Given the description of an element on the screen output the (x, y) to click on. 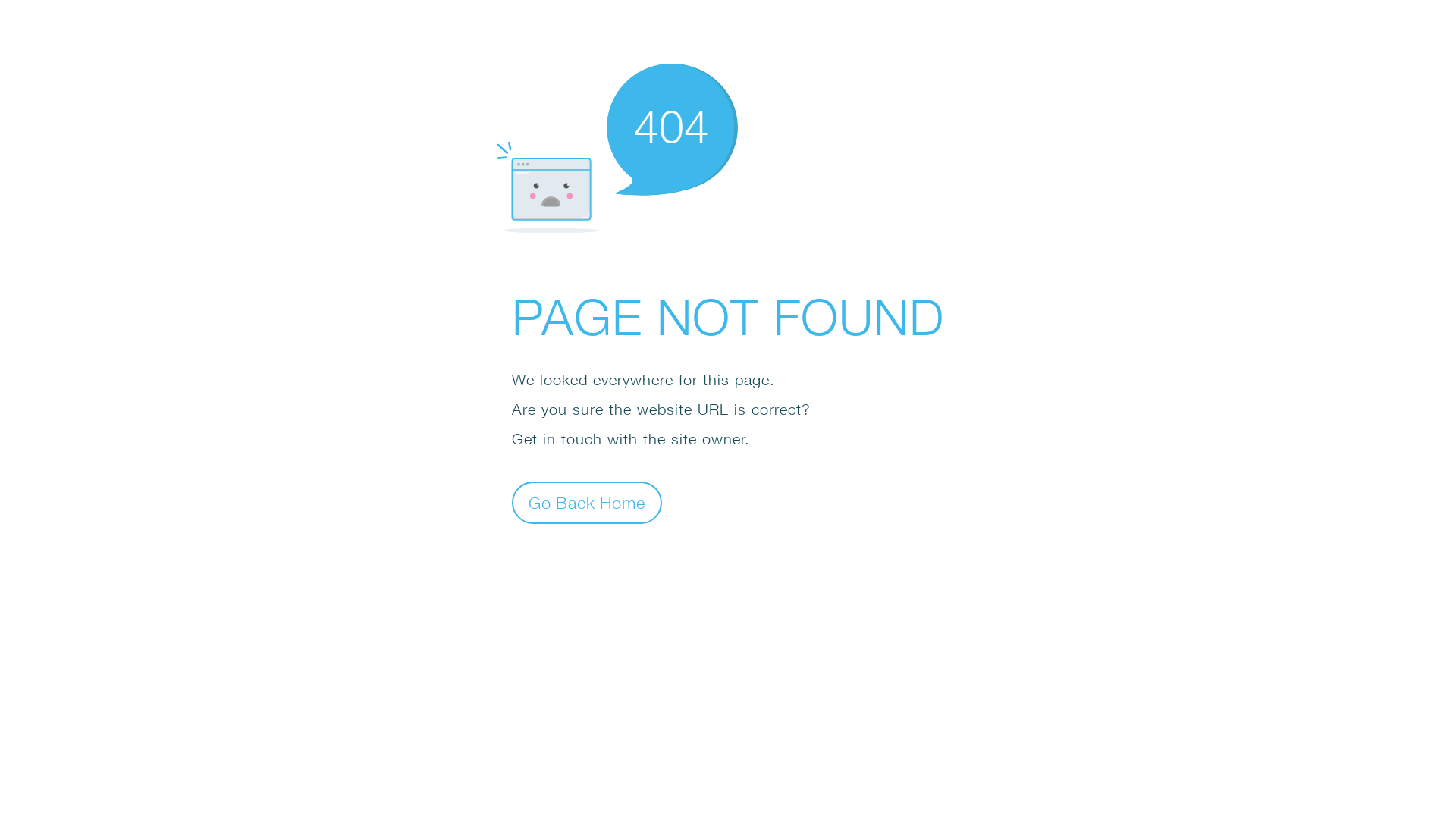
Go Back Home Element type: text (586, 502)
